Given the description of an element on the screen output the (x, y) to click on. 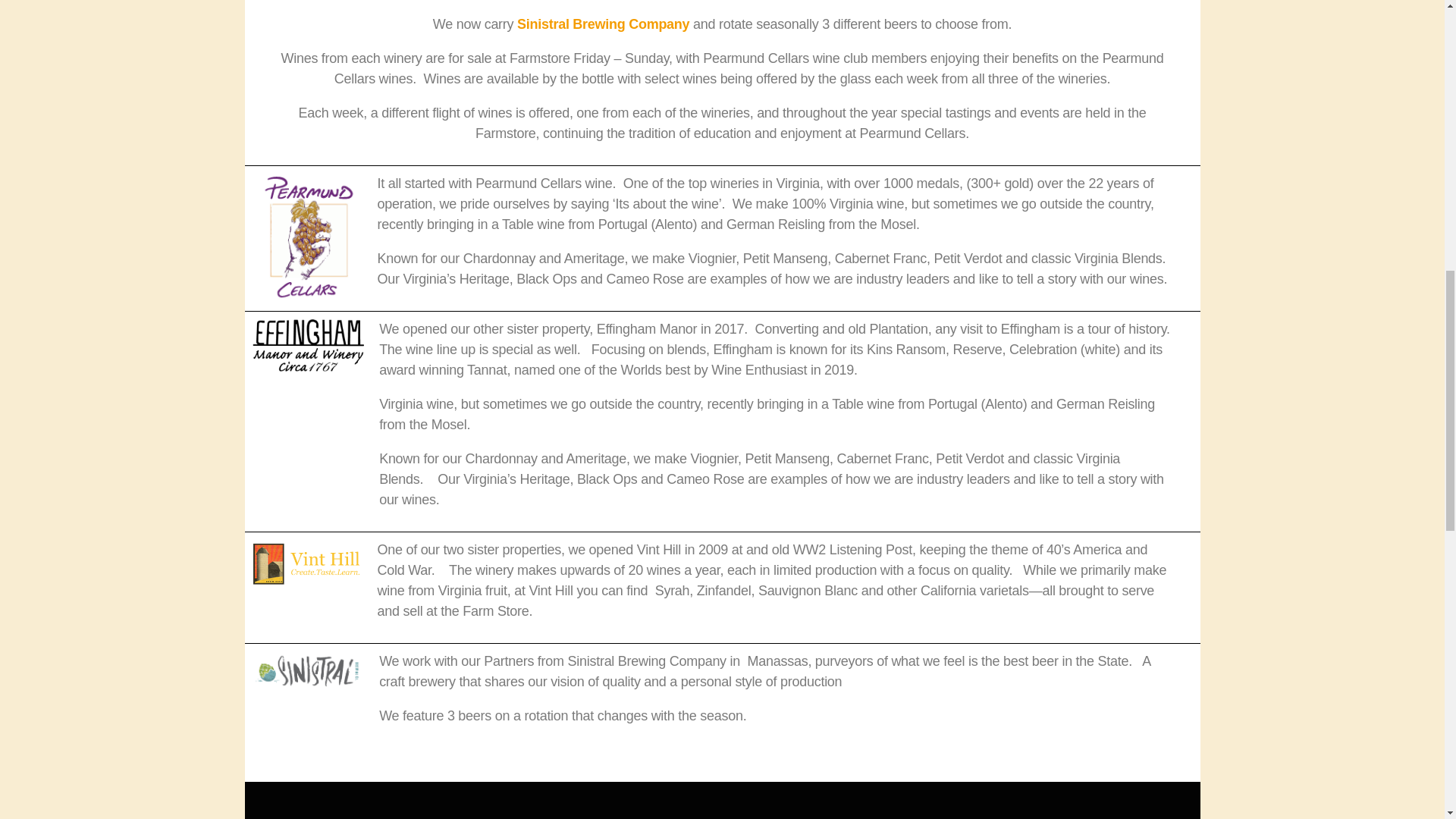
Sinistral Brewing Company (602, 23)
